Given the description of an element on the screen output the (x, y) to click on. 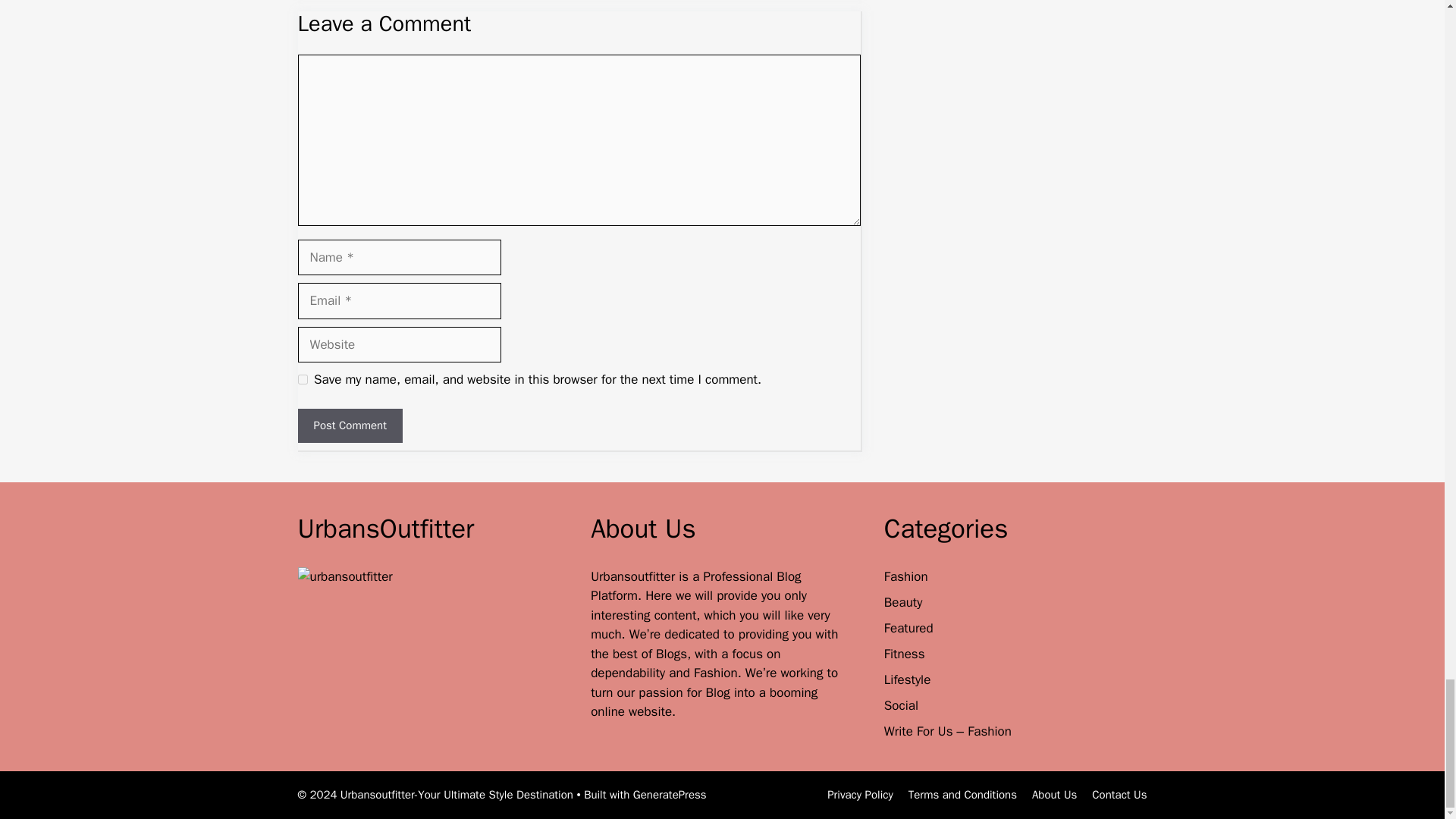
Social (900, 705)
Fashion (905, 576)
Lifestyle (906, 679)
yes (302, 379)
Post Comment (349, 425)
Post Comment (349, 425)
Urbansoutfitter  (634, 576)
Fitness (903, 653)
Featured (908, 627)
Beauty (903, 602)
